Given the description of an element on the screen output the (x, y) to click on. 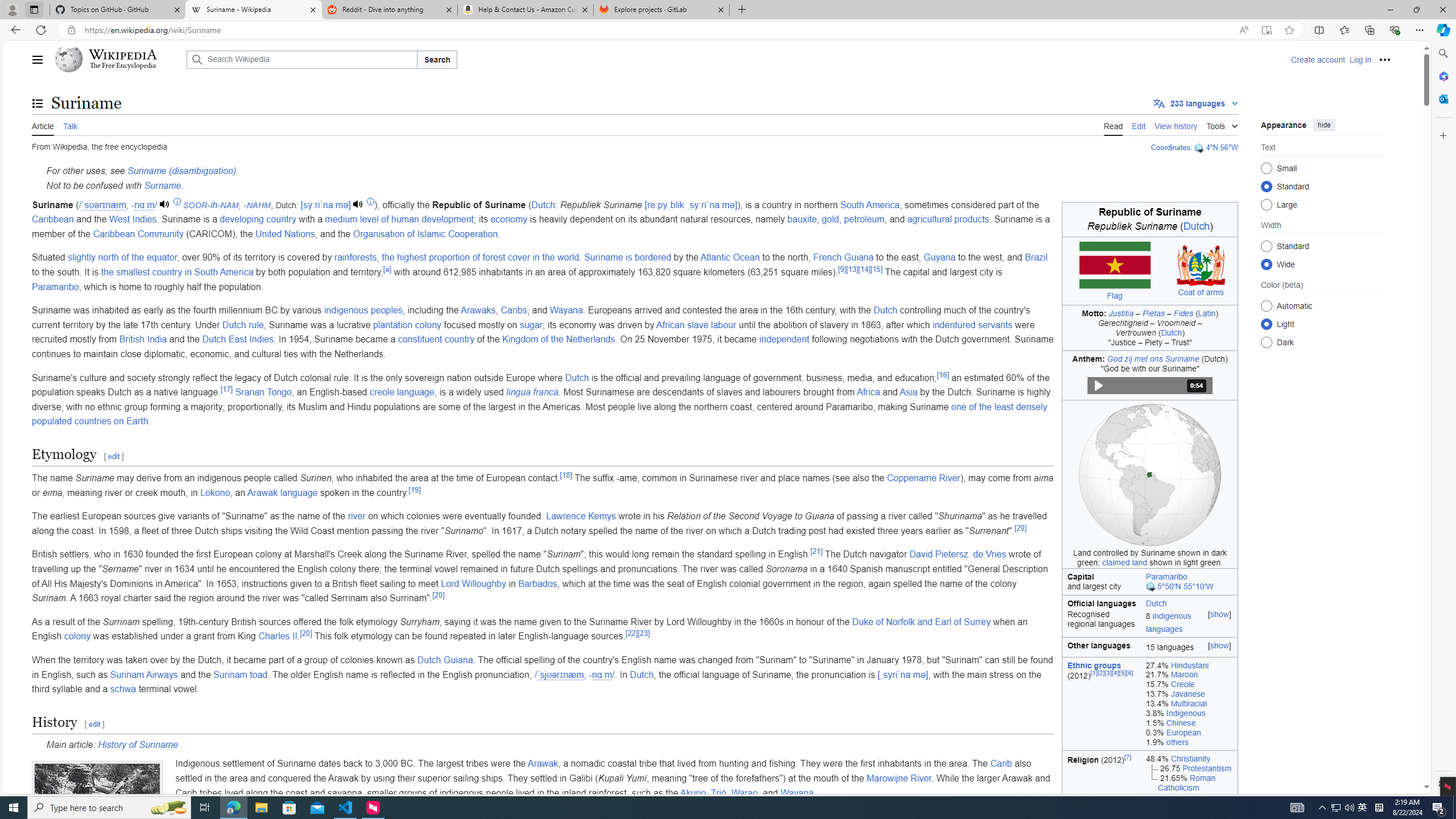
Christianity (1190, 758)
Search Wikipedia (301, 59)
Maroon (1184, 674)
others (1177, 741)
Coat of arms of Suriname (1200, 264)
Article (42, 124)
Tools (1222, 124)
independent (783, 339)
David Pietersz. de Vries (958, 554)
Sranan Tongo (262, 392)
United Nations (284, 233)
